Given the description of an element on the screen output the (x, y) to click on. 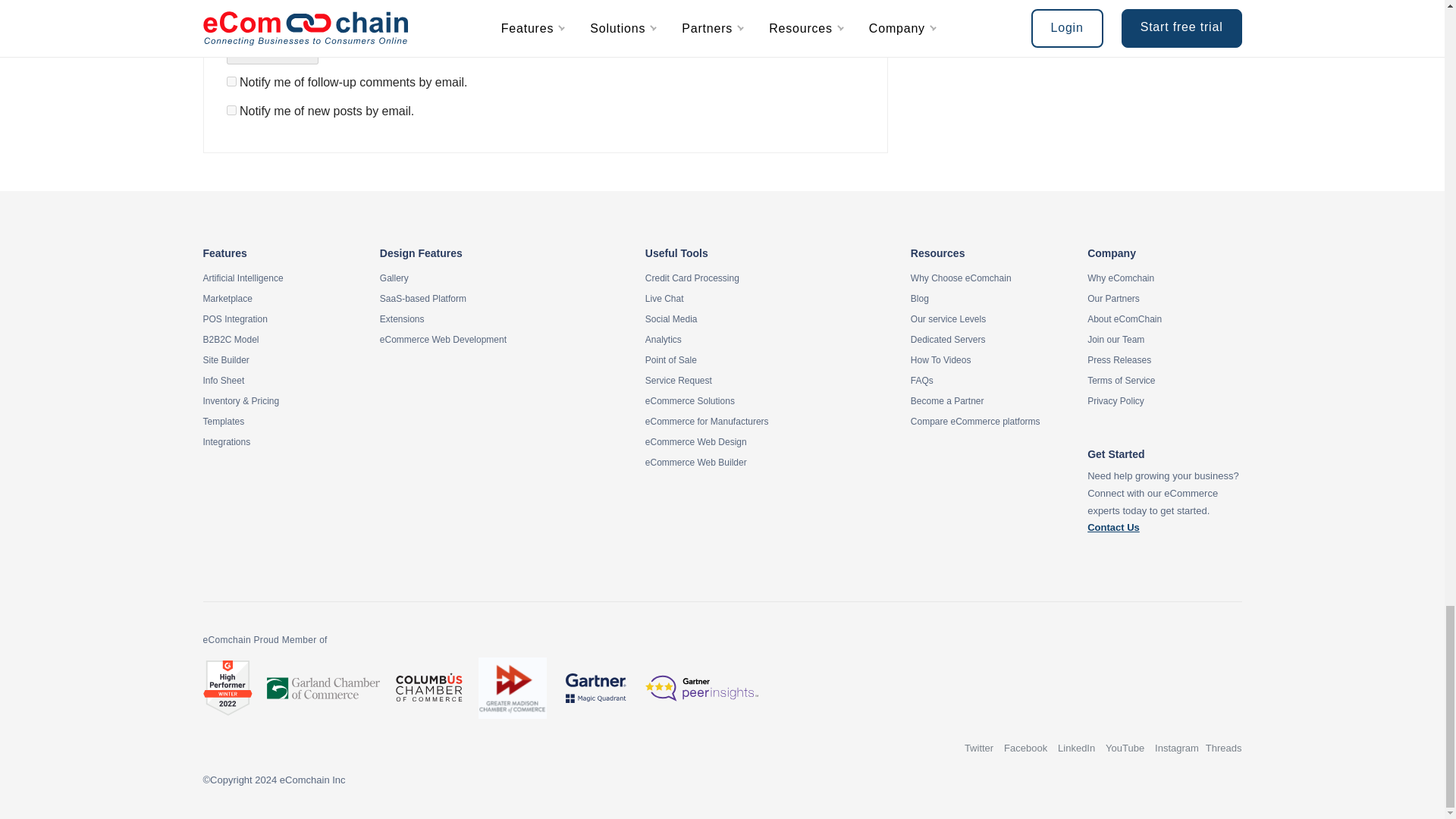
Post Comment (271, 51)
subscribe (230, 110)
subscribe (230, 81)
